Given the description of an element on the screen output the (x, y) to click on. 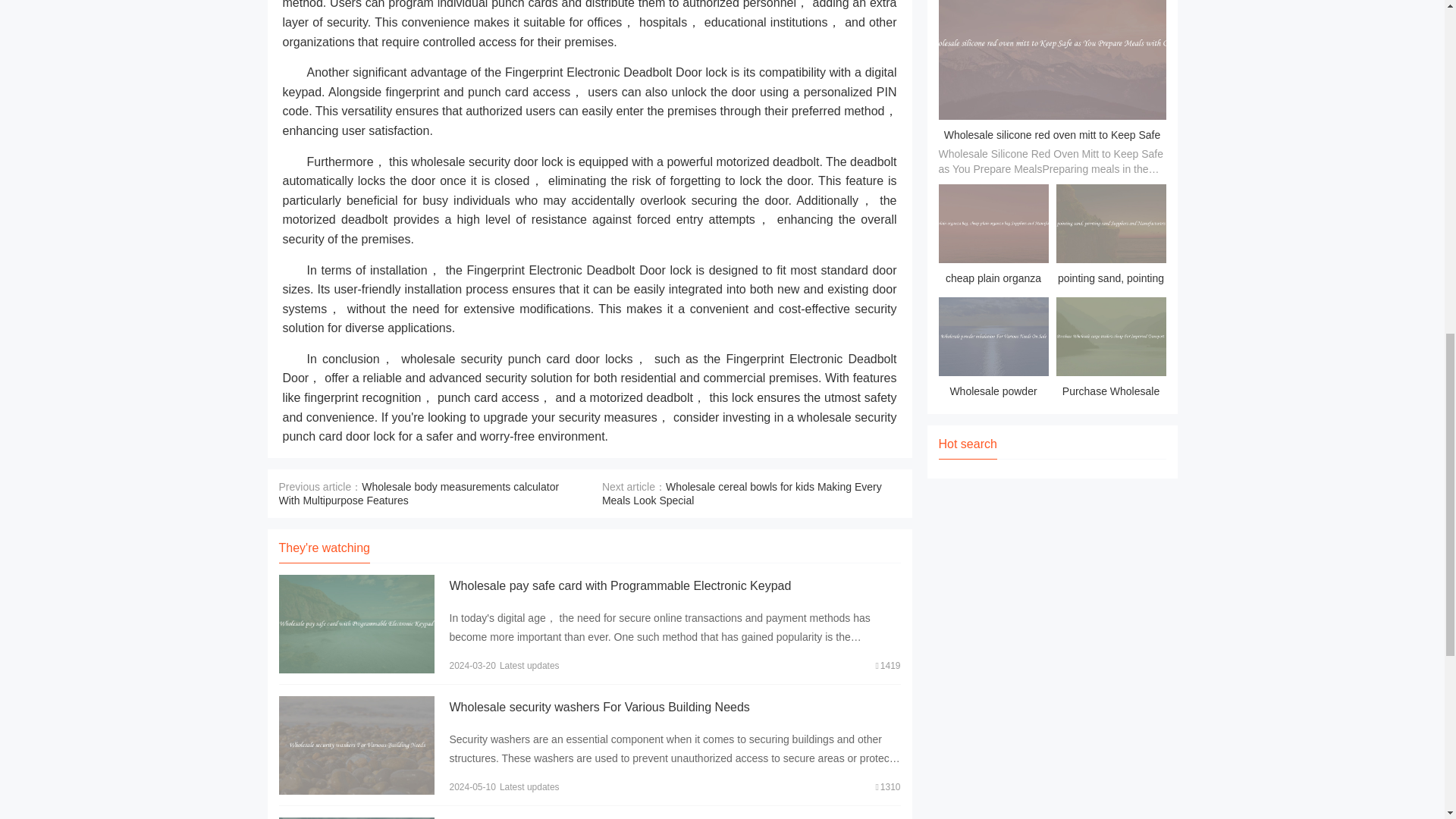
Wholesale pay safe card with Programmable Electronic Keypad (619, 585)
pointing sand, pointing sand Suppliers and Manufacturers (1110, 236)
Wholesale powder inhalation For Various Needs On Sale (993, 349)
Wholesale security washers For Various Building Needs (598, 707)
